Given the description of an element on the screen output the (x, y) to click on. 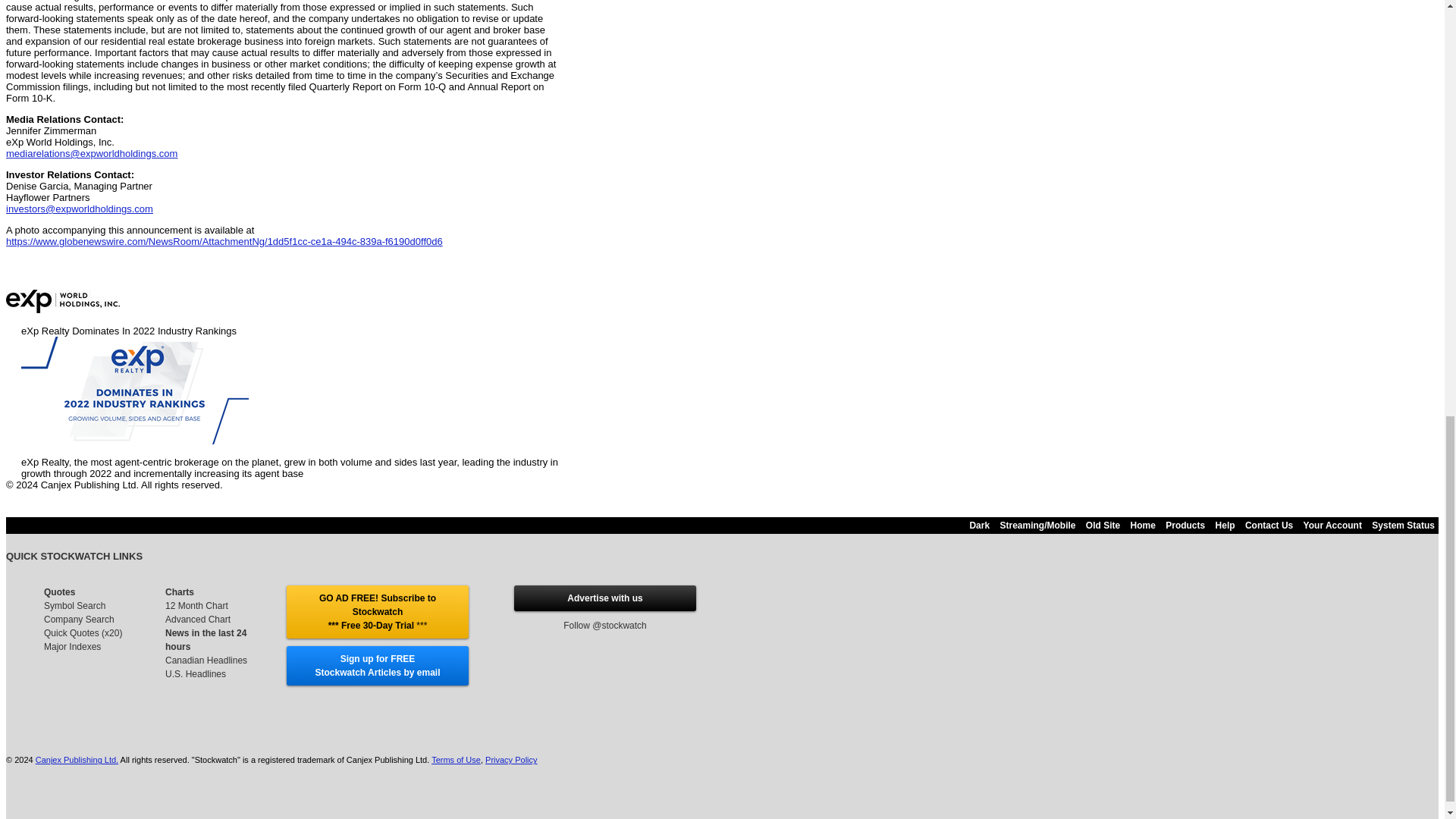
Start with a FREE 30 day trial (376, 611)
Reach Interested and Active Investors (604, 597)
